Given the description of an element on the screen output the (x, y) to click on. 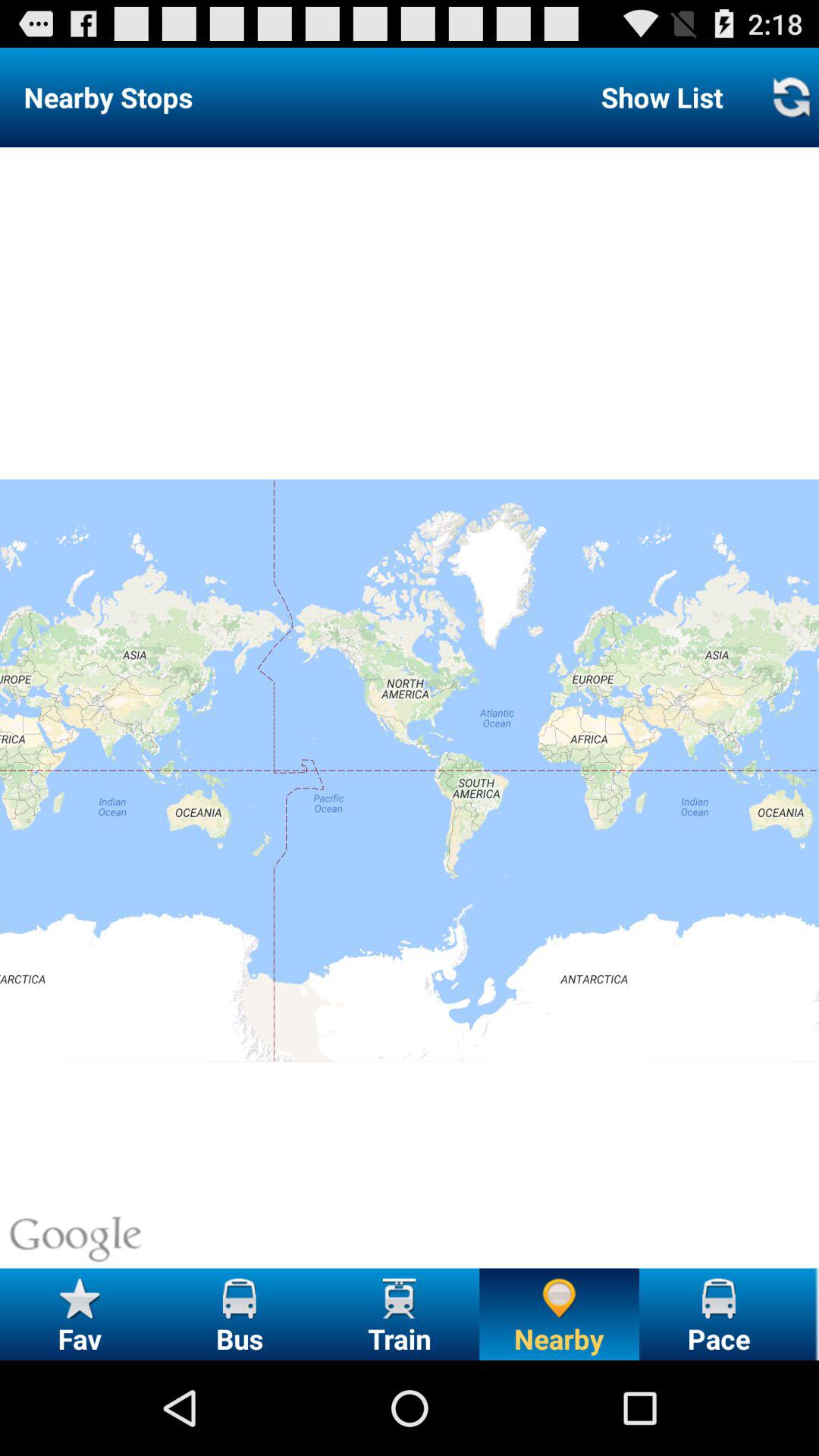
scroll until show list (662, 97)
